Given the description of an element on the screen output the (x, y) to click on. 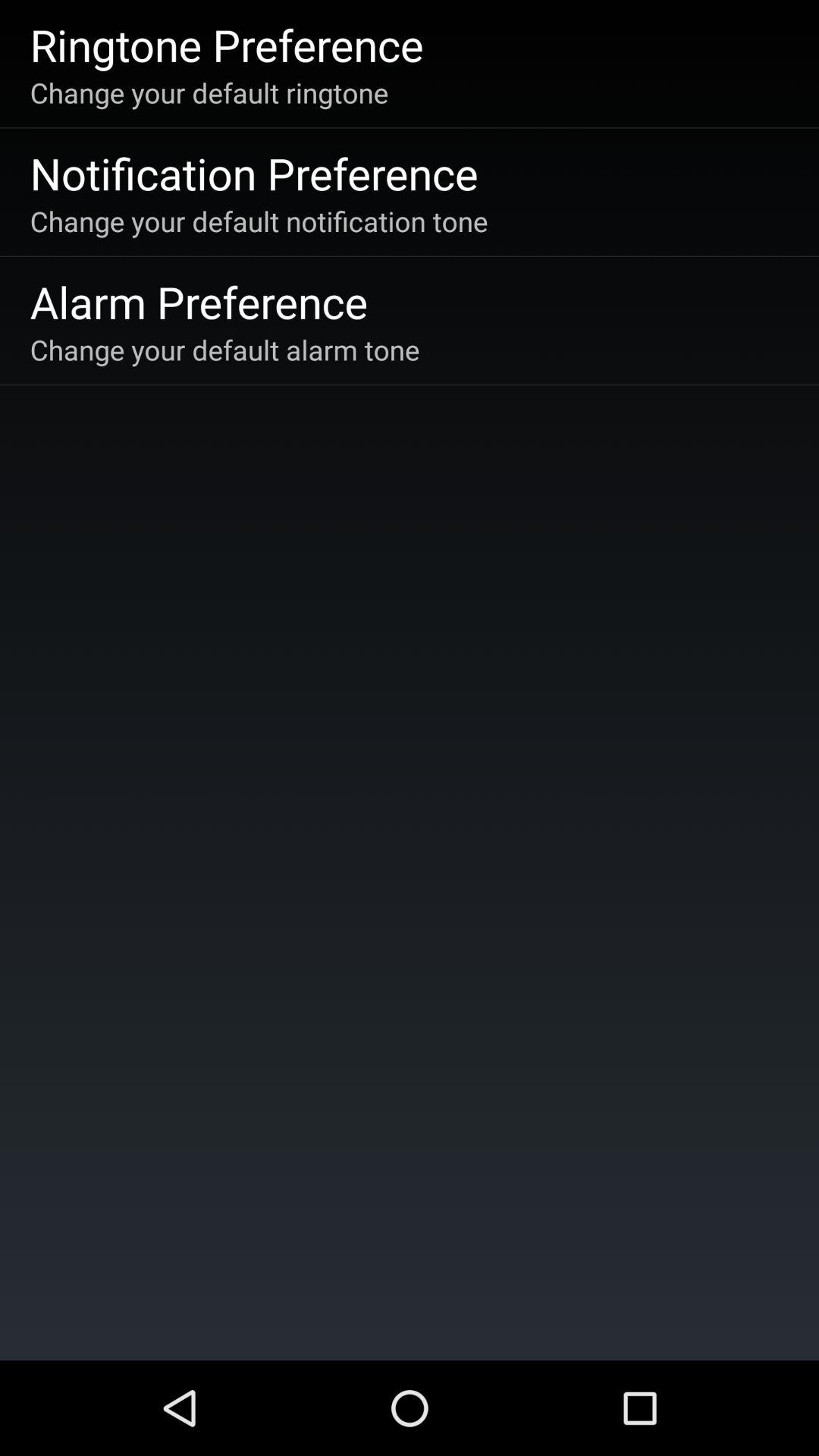
scroll until alarm preference icon (198, 301)
